Given the description of an element on the screen output the (x, y) to click on. 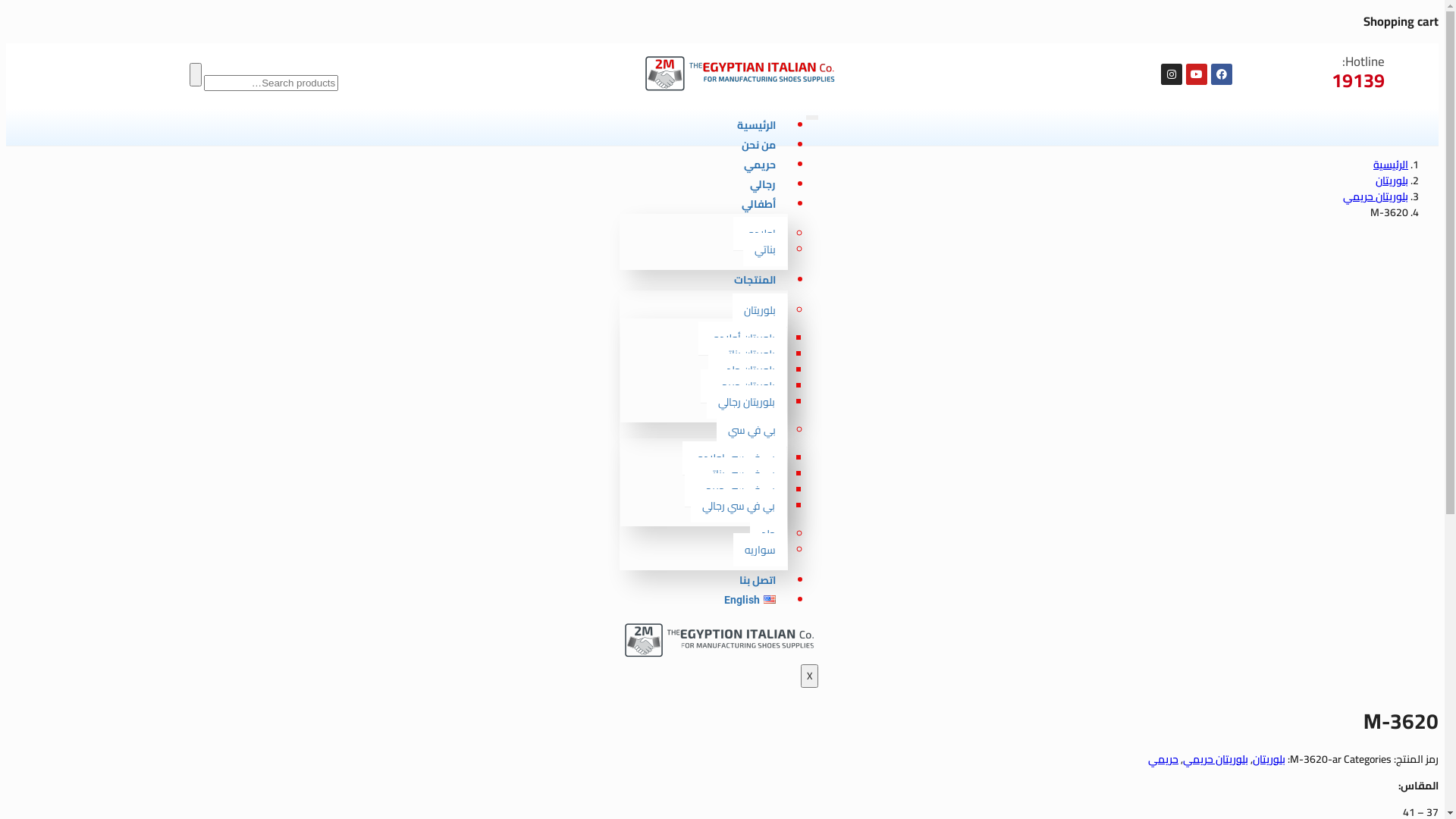
X Element type: text (809, 675)
Hotline:
19139 Element type: text (1326, 72)
English Element type: text (749, 599)
